Given the description of an element on the screen output the (x, y) to click on. 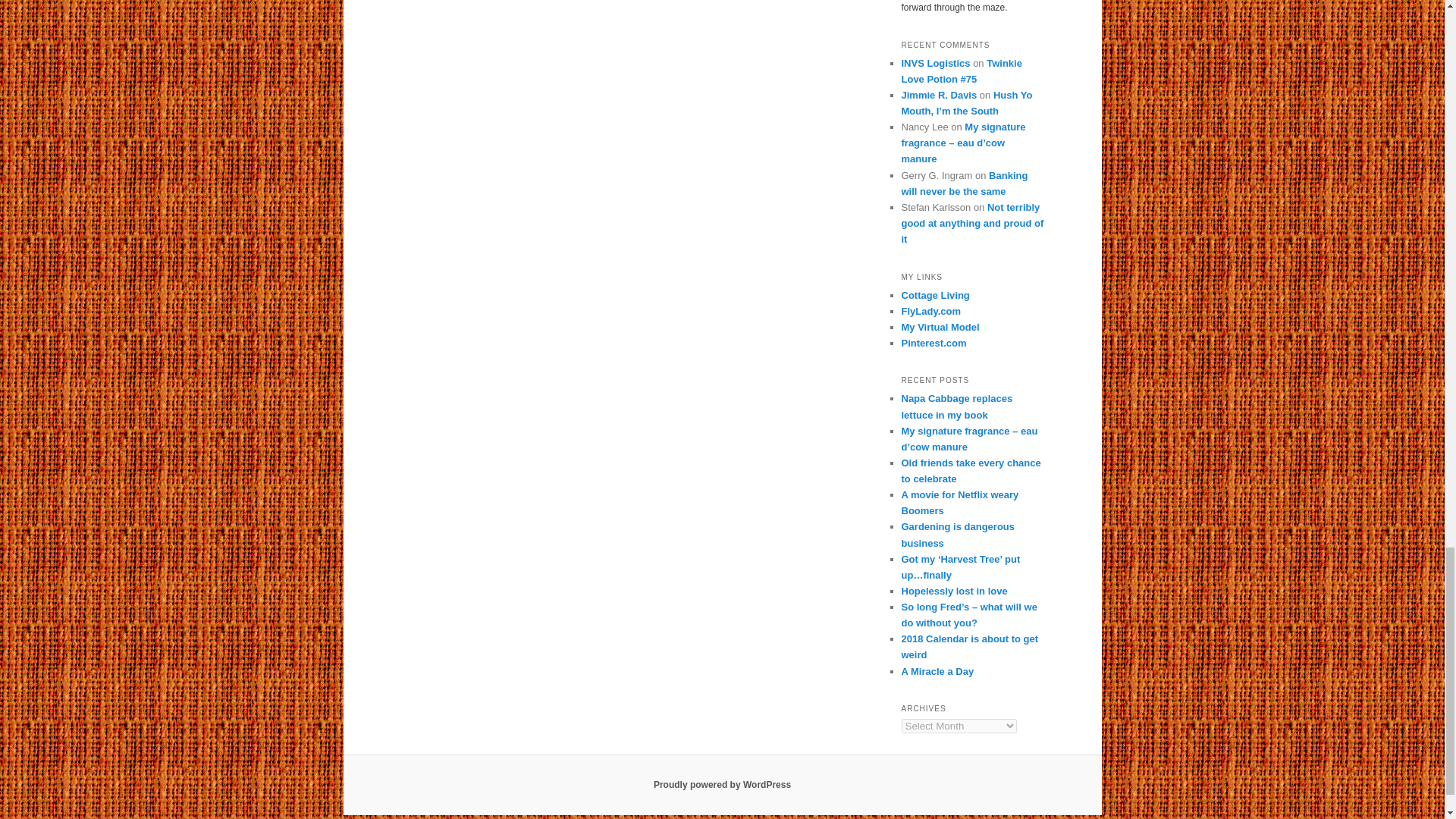
Cooking and housekeeping (930, 310)
Semantic Personal Publishing Platform (721, 784)
